Given the description of an element on the screen output the (x, y) to click on. 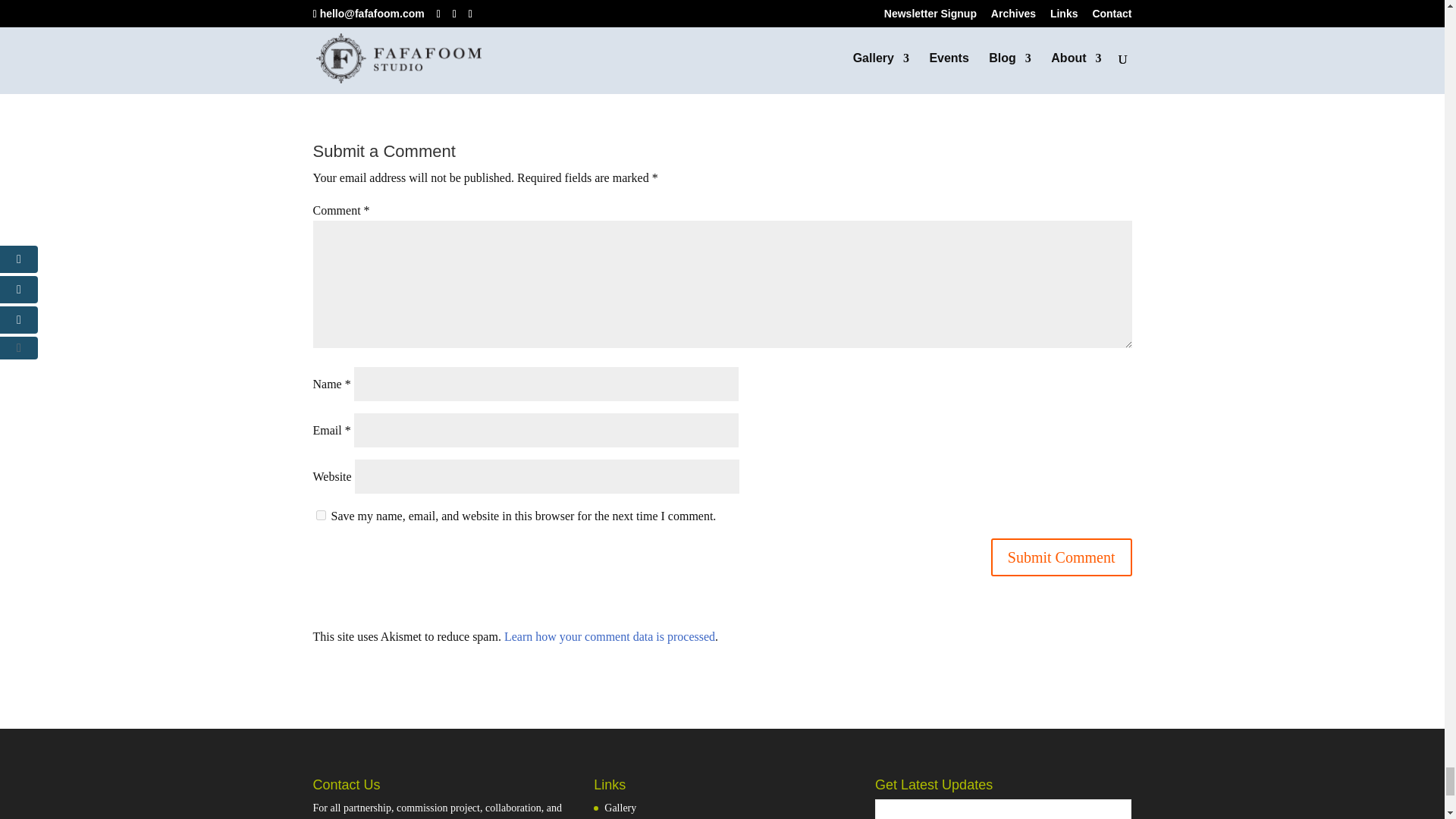
Submit Comment (1061, 557)
yes (319, 514)
